Given the description of an element on the screen output the (x, y) to click on. 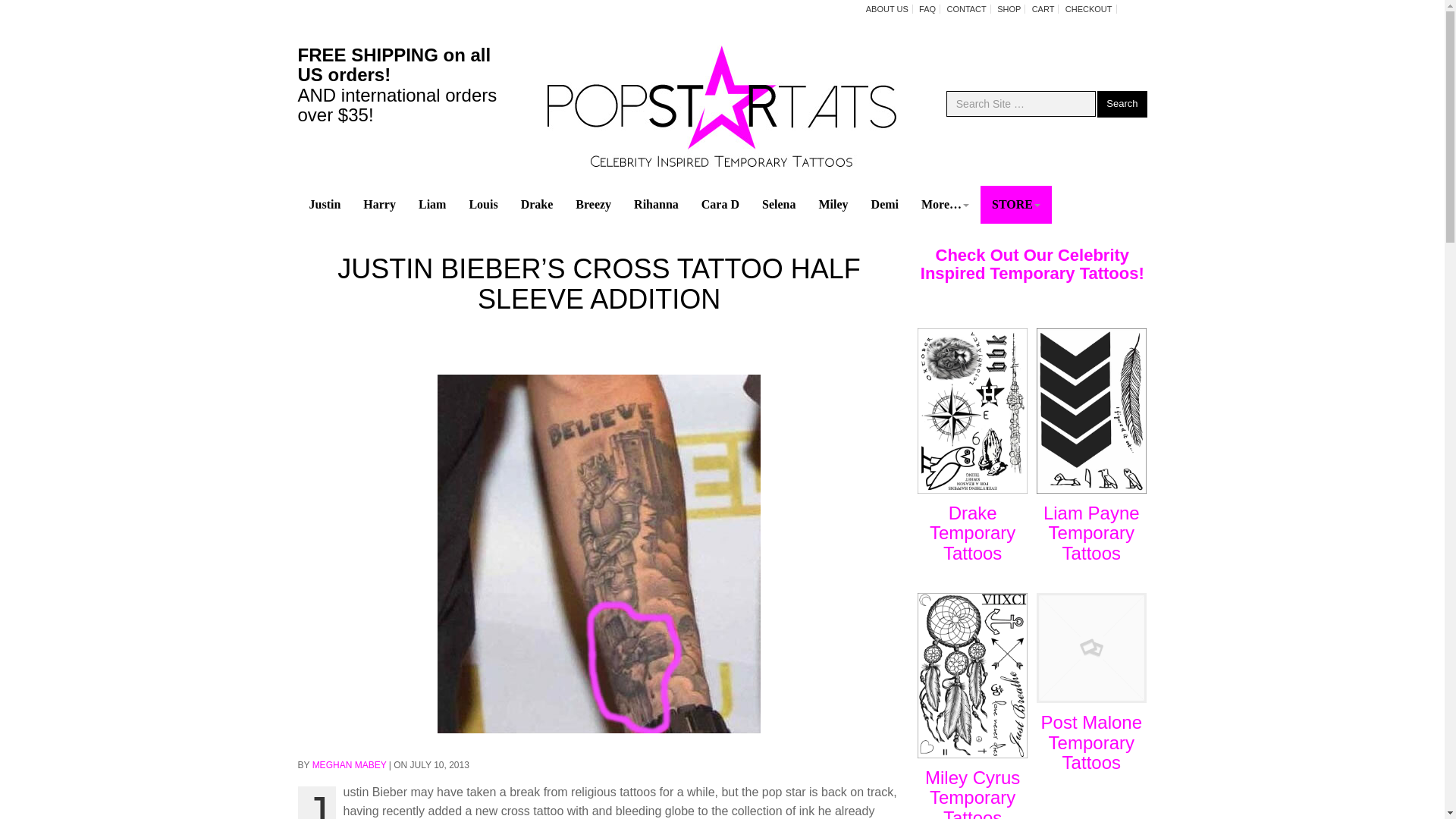
CART (1043, 8)
Harry (379, 204)
Selena (778, 204)
SHOP (1008, 8)
Miley (832, 204)
Demi (885, 204)
CONTACT (965, 8)
Louis (482, 204)
Drake (536, 204)
CHECKOUT (1088, 8)
Justin (324, 204)
Posts by Meghan Mabey (350, 765)
ABOUT US (887, 8)
Search (1122, 103)
Justin Bieber Tattoos (324, 204)
